Given the description of an element on the screen output the (x, y) to click on. 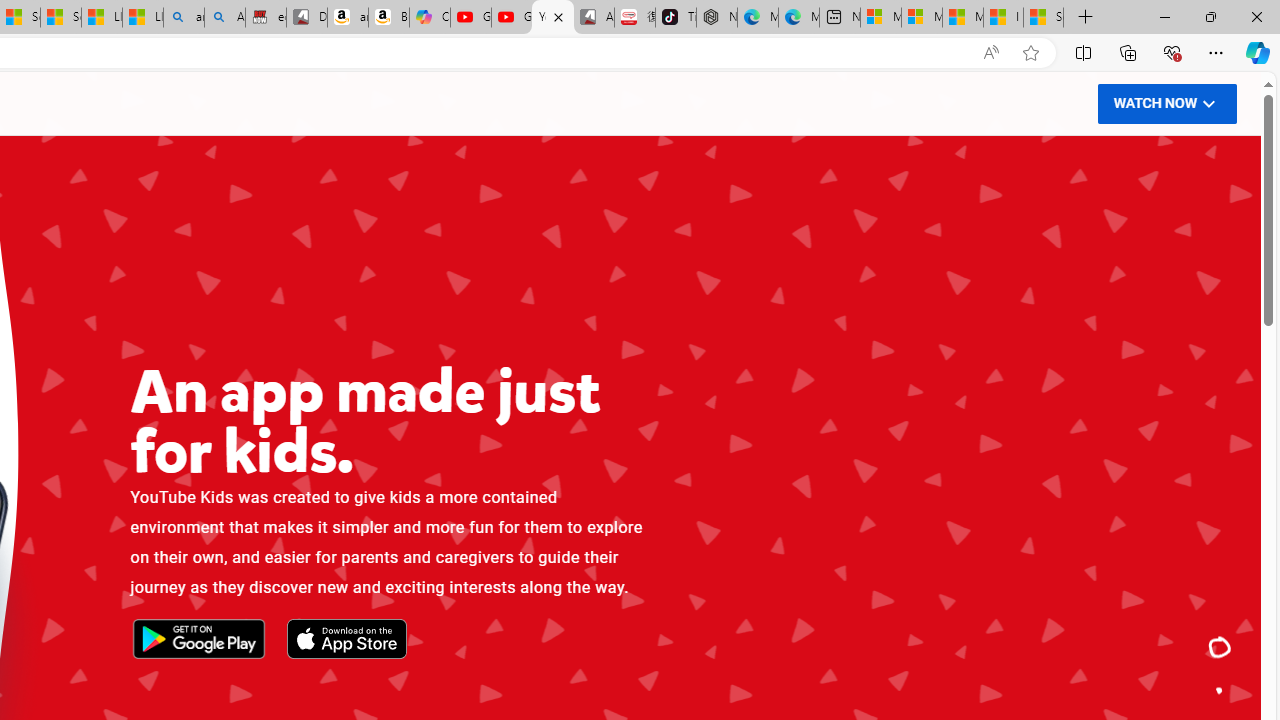
An app made just for kids. (1219, 647)
Download on the App Store (346, 639)
I Gained 20 Pounds of Muscle in 30 Days! | Watch (1003, 17)
Download on the App Store (346, 639)
Copilot (429, 17)
WATCH NOW (1166, 102)
